Given the description of an element on the screen output the (x, y) to click on. 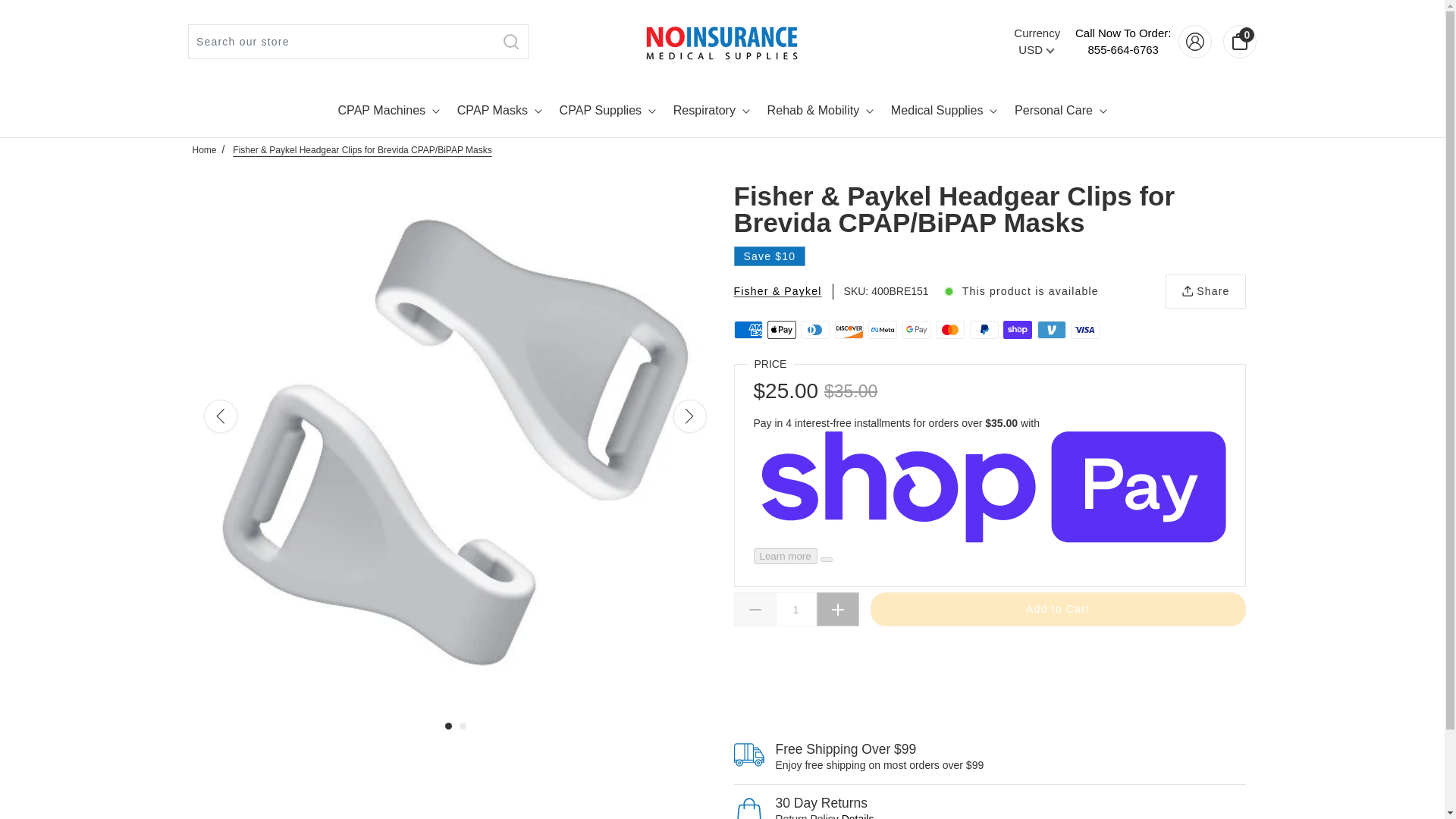
1 (794, 609)
Mastercard (949, 330)
0 (1239, 41)
CPAP Supplies (607, 110)
PayPal (983, 330)
Visa (1122, 40)
Respiratory (1084, 330)
Venmo (711, 110)
Google Pay (1050, 330)
Diners Club (916, 330)
Meta Pay (814, 330)
Discover (881, 330)
Shop Pay (848, 330)
American Express (1017, 330)
